Given the description of an element on the screen output the (x, y) to click on. 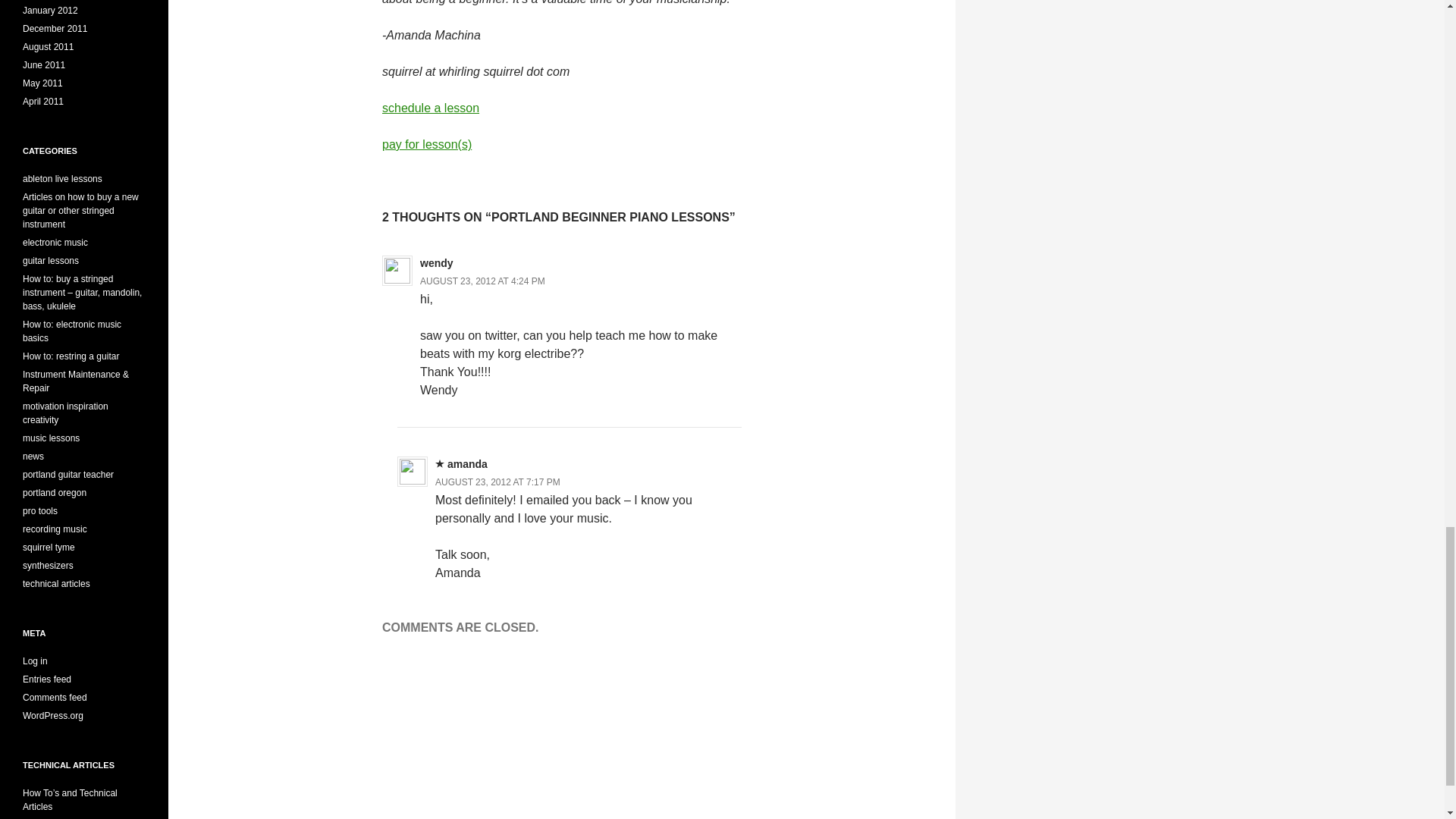
AUGUST 23, 2012 AT 7:17 PM (497, 481)
pay online (426, 144)
schedule (430, 107)
technical-articles (70, 799)
schedule a lesson (430, 107)
AUGUST 23, 2012 AT 4:24 PM (482, 281)
